Given the description of an element on the screen output the (x, y) to click on. 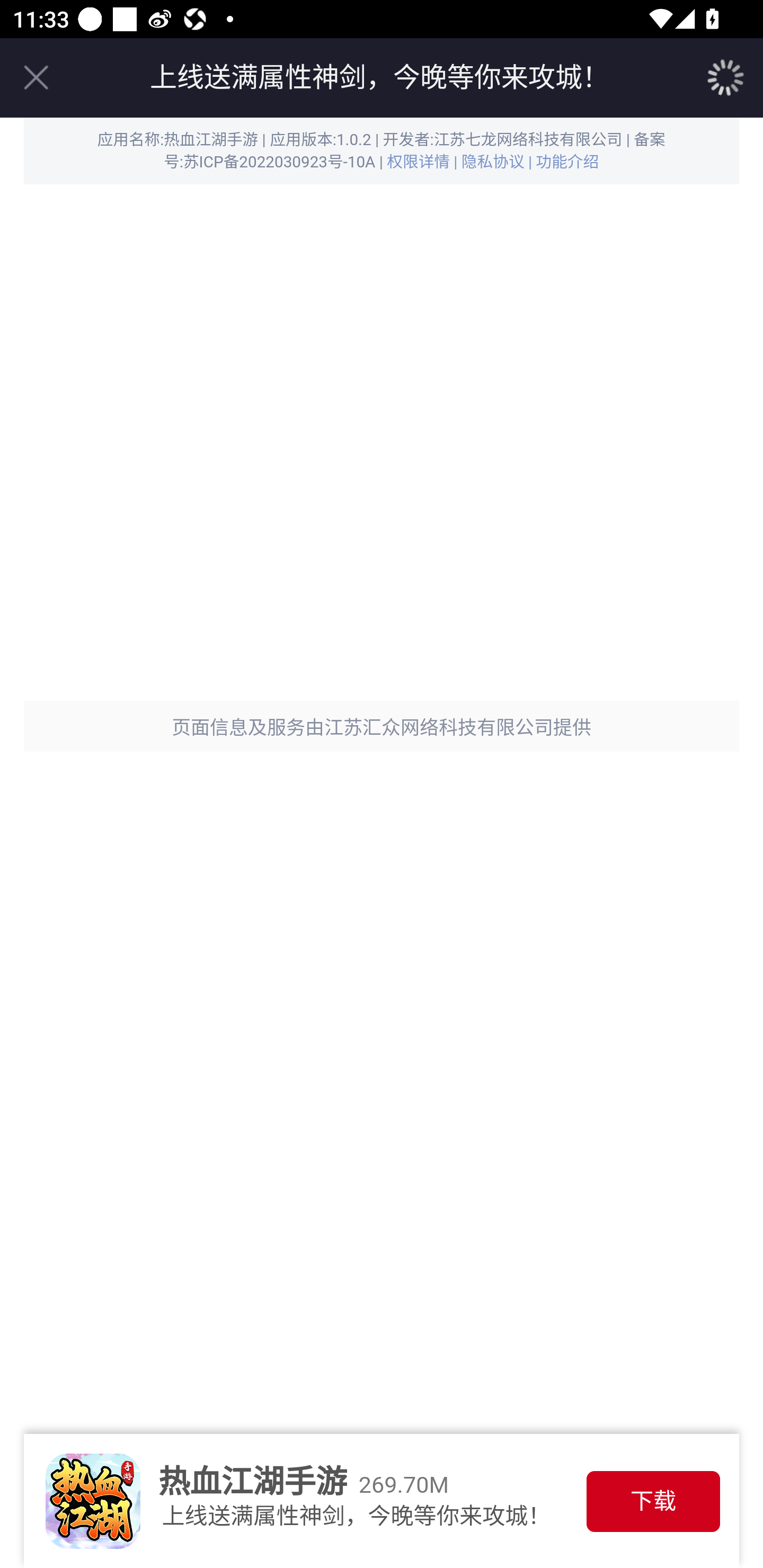
上线送满属性神剑，今晚等你来攻城！ (379, 77)
下载 (653, 1500)
